Given the description of an element on the screen output the (x, y) to click on. 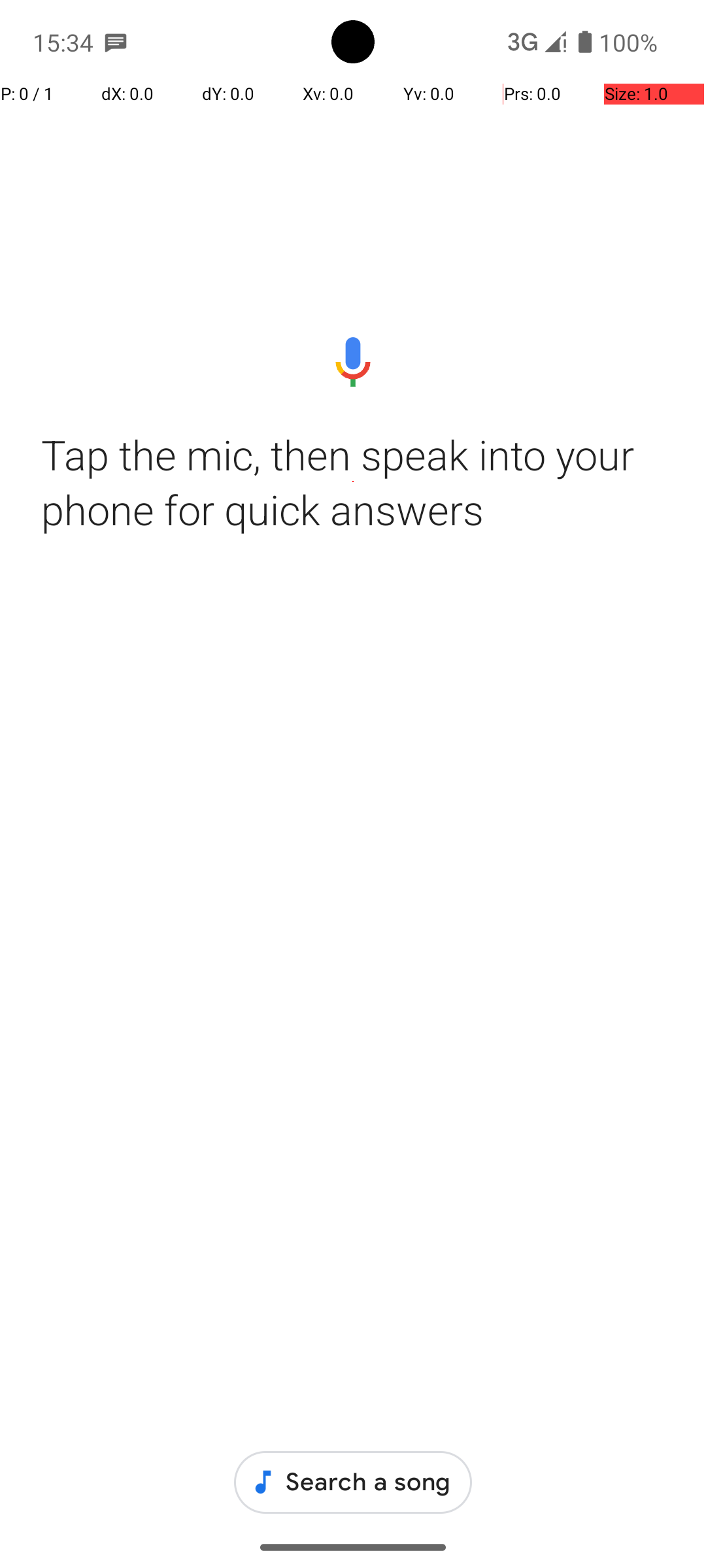
Tap the mic, then speak into your phone for quick answers Element type: android.widget.TextView (352, 481)
Voice search button, tap to speak Element type: android.view.View (352, 361)
Search a song Element type: android.widget.Button (352, 1482)
